Given the description of an element on the screen output the (x, y) to click on. 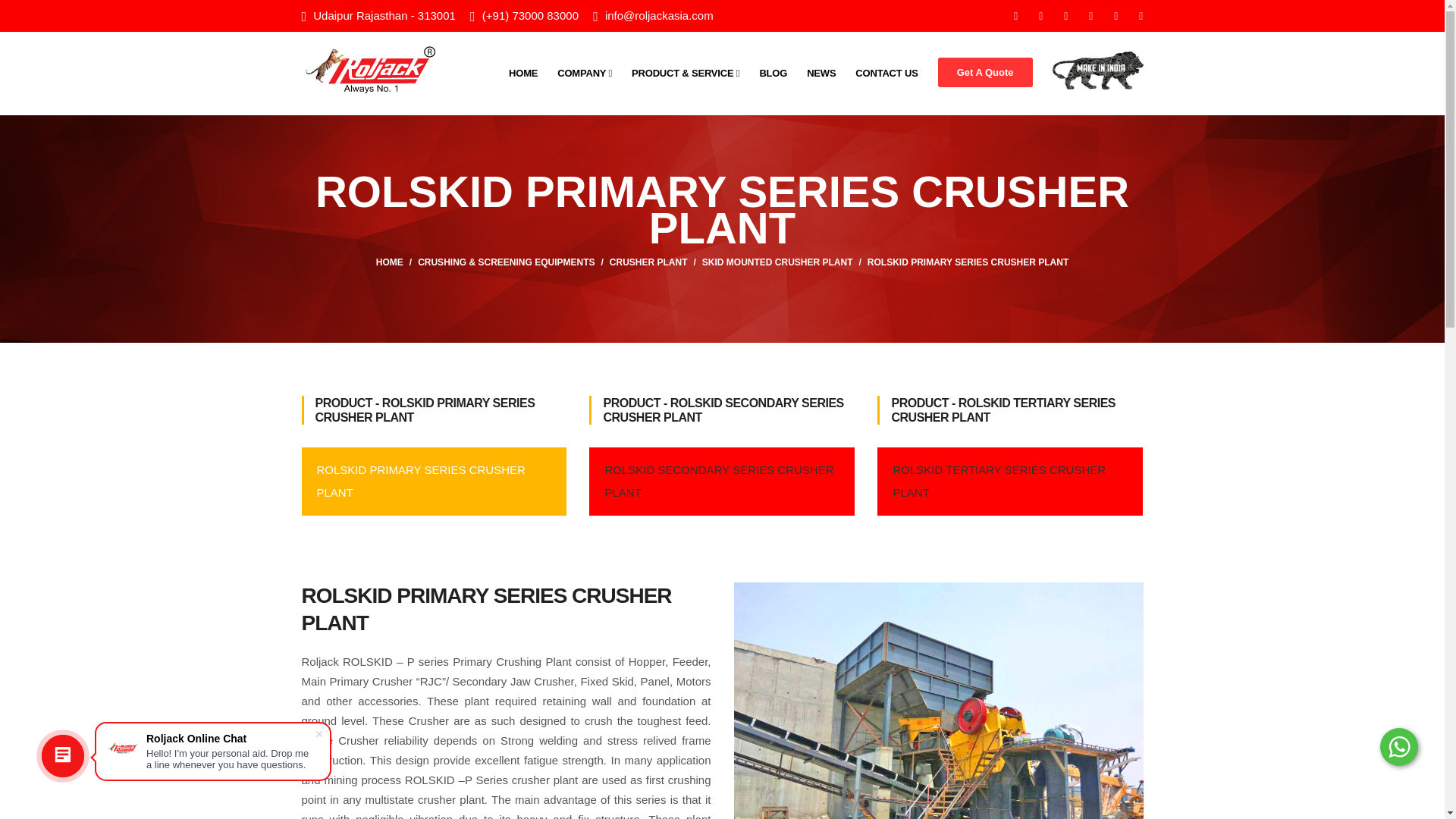
Twitter (1041, 15)
Get A Quote (984, 71)
Facebook (1016, 15)
Linkedin (1117, 15)
Address (384, 15)
Instagram (1067, 15)
Email (659, 15)
Call (529, 15)
ROLSKID PRIMARY SERIES CRUSHER PLANT (967, 261)
Udaipur Rajasthan - 313001 (384, 15)
Whatsapp (1092, 15)
Opens a widget where you can chat to one of our agents (1386, 792)
COMPANY (584, 72)
ROLSKID TERTIARY SERIES CRUSHER PLANT (1009, 481)
CONTACT US (886, 72)
